Given the description of an element on the screen output the (x, y) to click on. 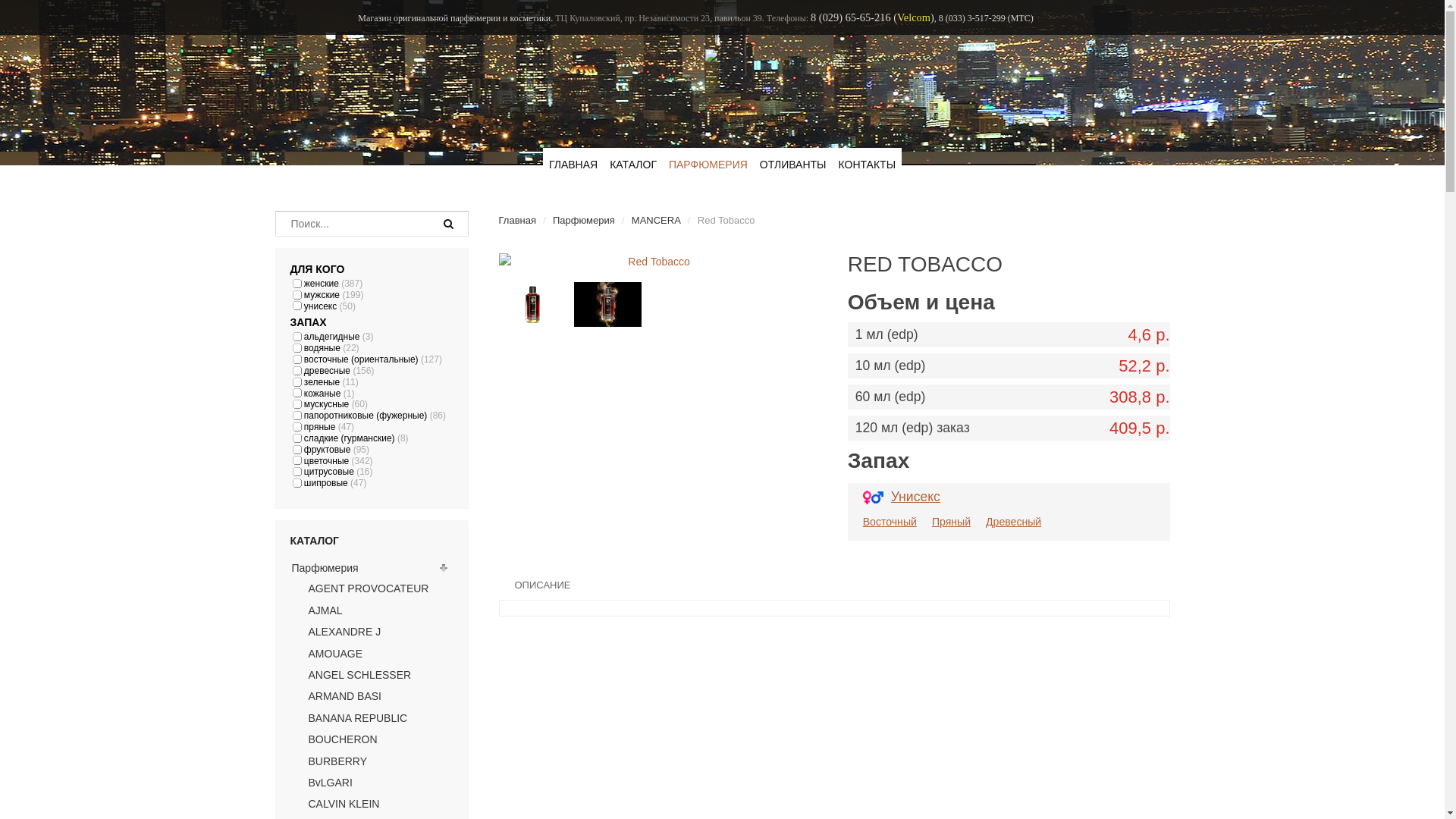
CALVIN KLEIN Element type: text (343, 803)
ALEXANDRE J Element type: text (343, 631)
AGENT PROVOCATEUR Element type: text (367, 588)
Red Tobacco Element type: hover (652, 261)
BvLGARI Element type: text (329, 782)
AMOUAGE Element type: text (334, 653)
AJMAL Element type: text (324, 610)
BURBERRY Element type: text (337, 761)
ANGEL SCHLESSER Element type: text (359, 674)
ARMAND BASI Element type: text (343, 696)
BOUCHERON Element type: text (341, 739)
BANANA REPUBLIC Element type: text (357, 718)
MANCERA Element type: text (655, 219)
